Given the description of an element on the screen output the (x, y) to click on. 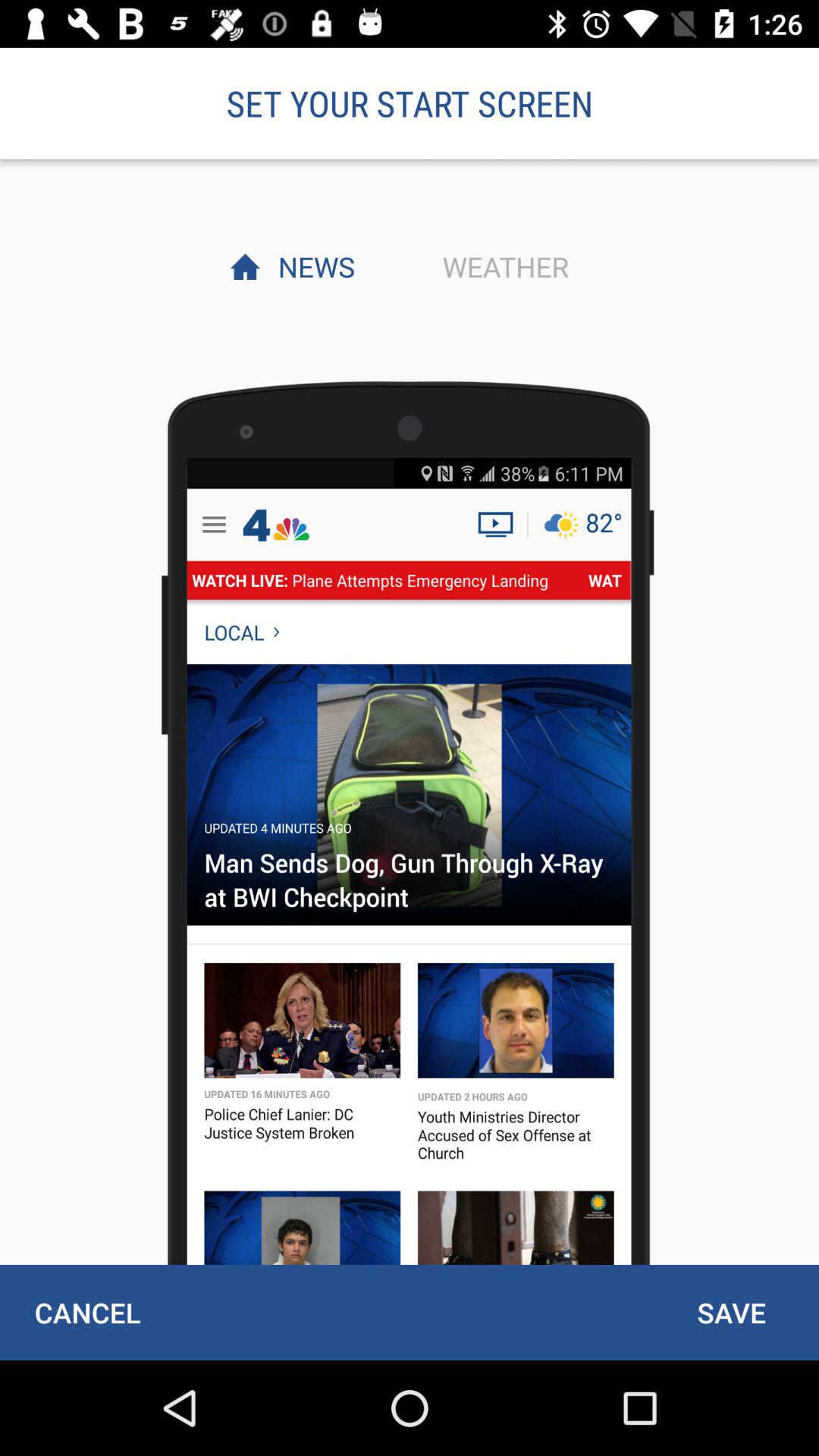
flip until save (731, 1312)
